Given the description of an element on the screen output the (x, y) to click on. 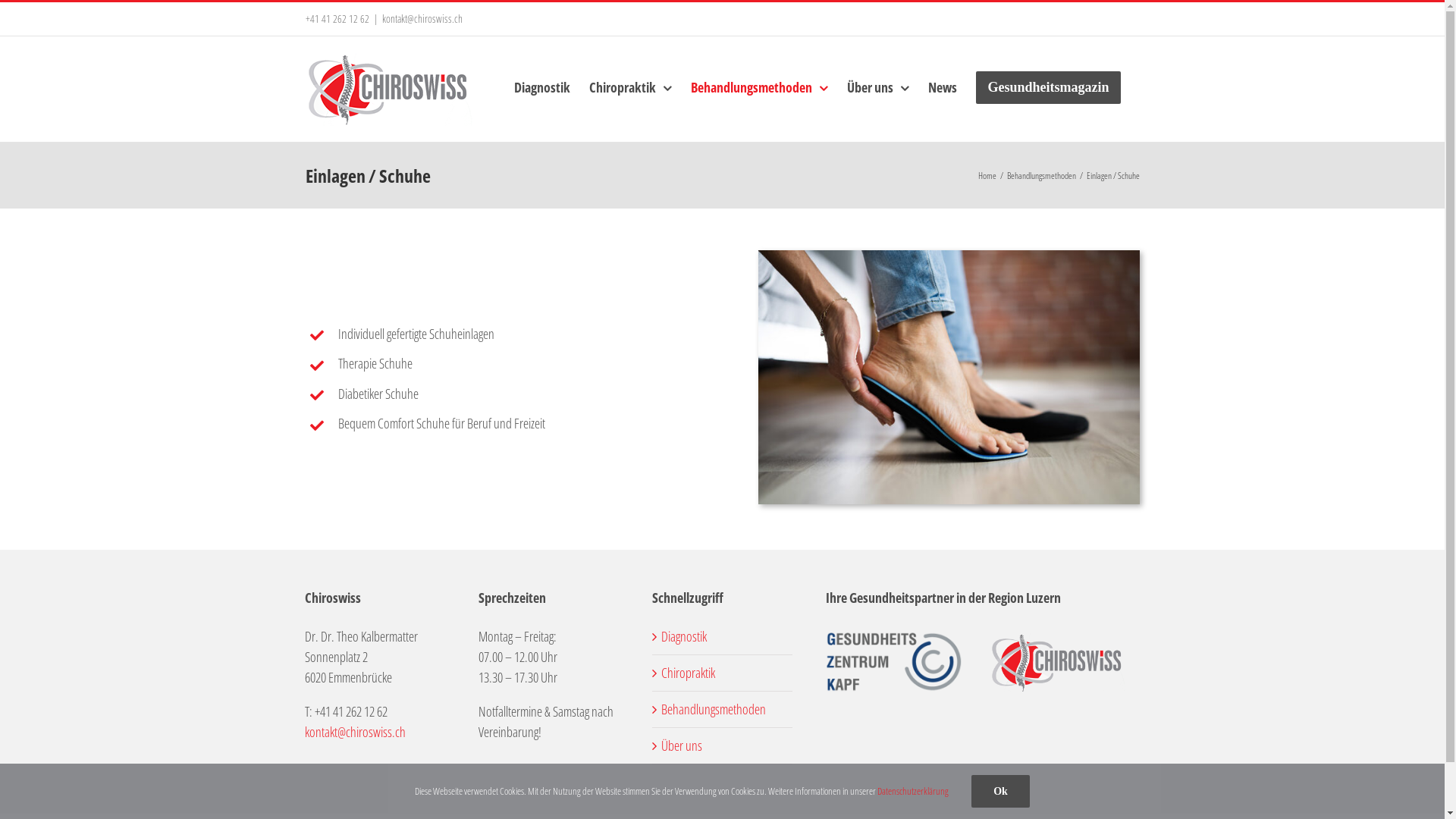
Behandlungsmethoden Element type: text (1041, 174)
News Element type: text (942, 87)
Chiropraktik Element type: text (688, 672)
Behandlungsmethoden Element type: text (713, 708)
kontakt@chiroswiss.ch Element type: text (354, 731)
Home Element type: text (987, 174)
kontakt@chiroswiss.ch Element type: text (422, 18)
Diagnostik Element type: text (542, 87)
Chiropraktik Element type: text (630, 87)
einlagen-schuhe Element type: hover (948, 377)
Behandlungsmethoden Element type: text (759, 87)
Gesundheitsmagazin Element type: text (1047, 87)
Ok Element type: text (1000, 791)
Diagnostik Element type: text (683, 636)
